Given the description of an element on the screen output the (x, y) to click on. 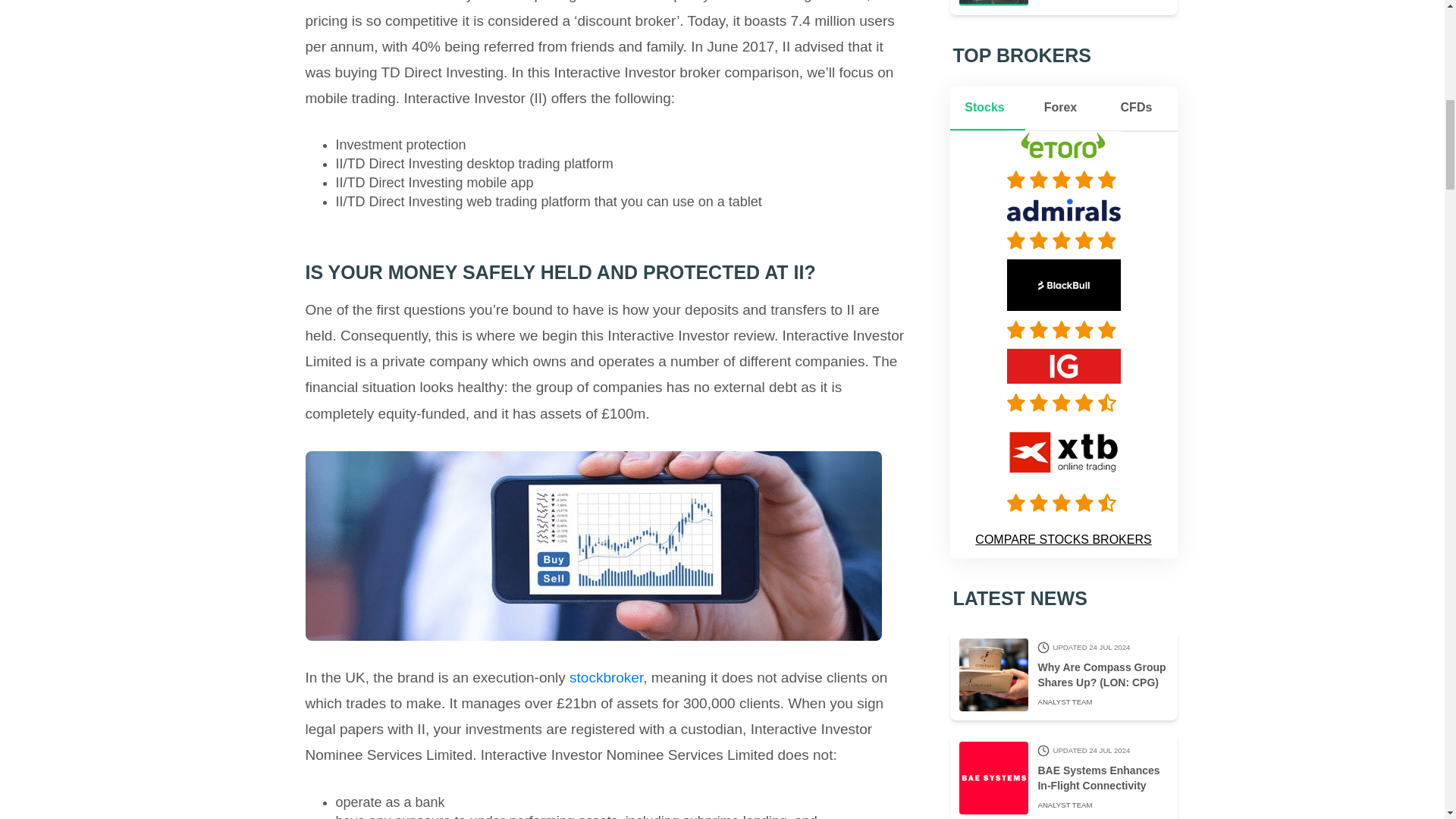
BlackBullreview (1064, 329)
XTBreview (1064, 502)
IGreview (1064, 402)
eTororeview (1064, 179)
